Given the description of an element on the screen output the (x, y) to click on. 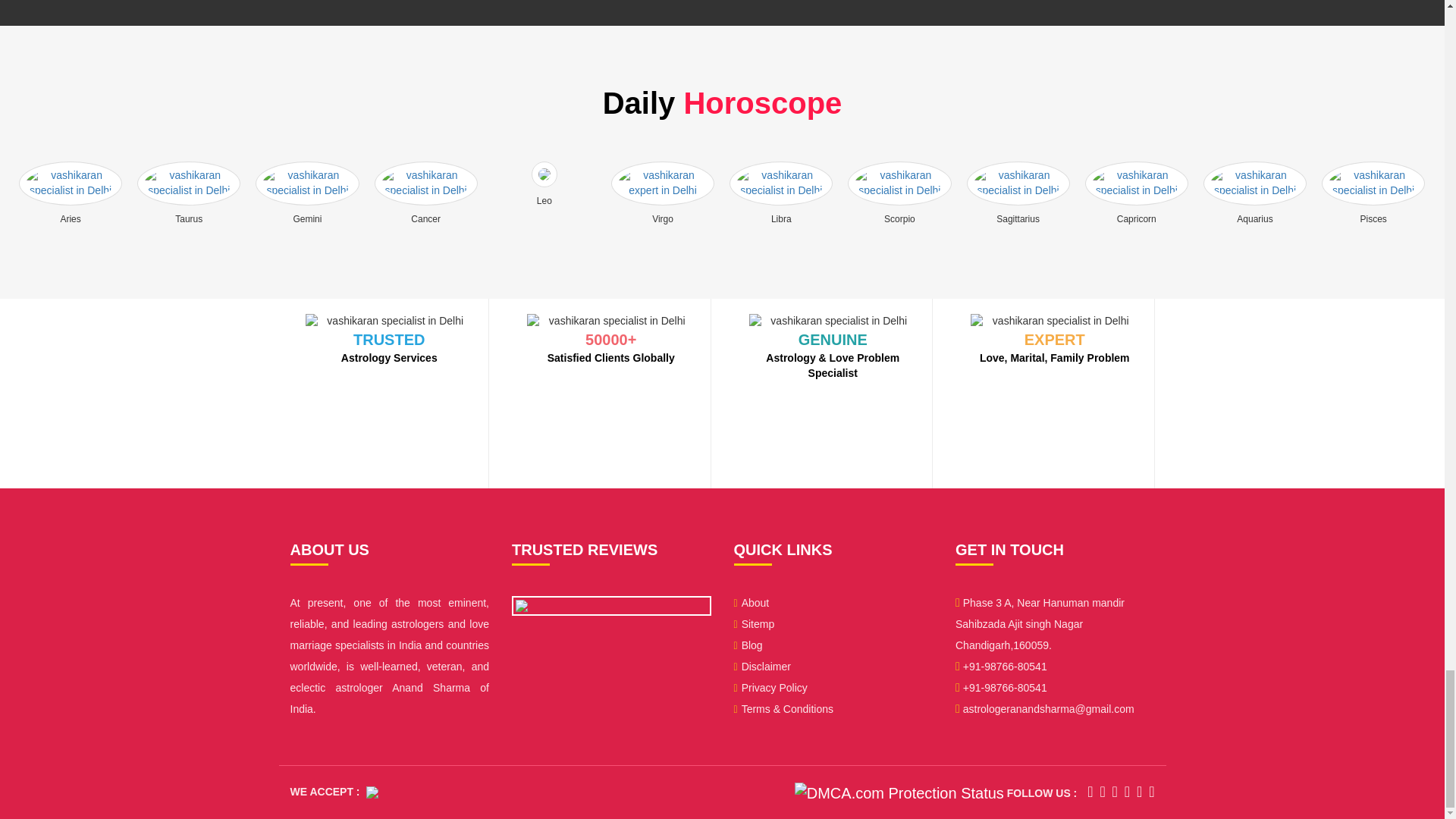
DMCA.com Protection Status (899, 791)
